Given the description of an element on the screen output the (x, y) to click on. 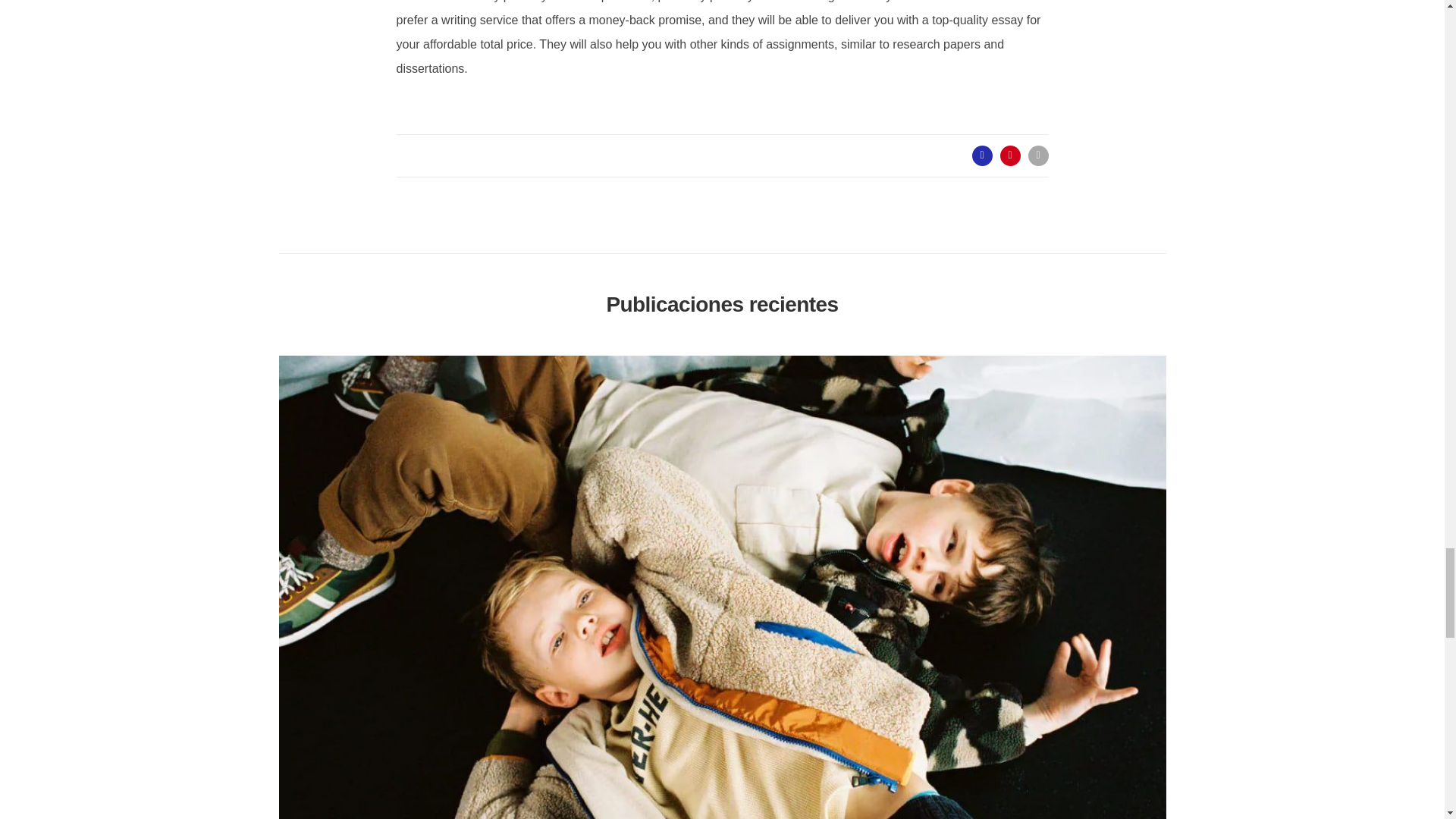
Share this post on Facebook (982, 155)
Share via Whatsapp (1037, 155)
Share this post on Pinterest (1009, 155)
